Given the description of an element on the screen output the (x, y) to click on. 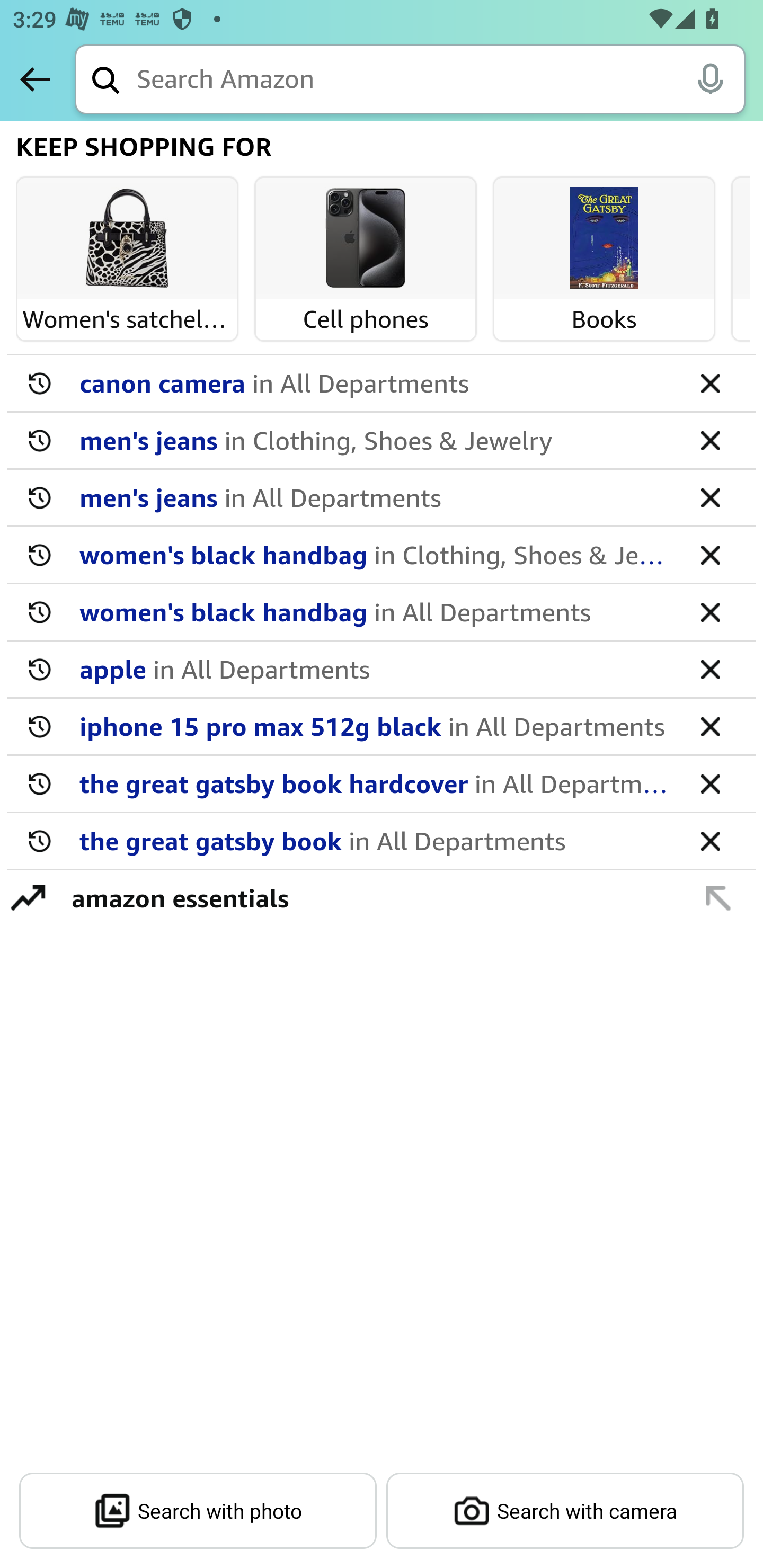
Search Amazon (440, 80)
Back (35, 78)
Alexa (710, 78)
Women's satchel handbags (126, 238)
Cell phones (365, 238)
Books (603, 238)
canon camera delete (381, 383)
canon camera (374, 382)
delete (710, 382)
men's jeans delete (381, 440)
men's jeans (374, 439)
delete (710, 439)
men's jeans delete (381, 497)
men's jeans (374, 496)
delete (710, 496)
women's black handbag delete (381, 554)
women's black handbag (374, 554)
delete (710, 554)
women's black handbag delete (381, 612)
women's black handbag (374, 611)
delete (710, 611)
apple delete (381, 669)
apple (374, 668)
delete (710, 668)
iphone 15 pro max 512g black delete (381, 726)
iphone 15 pro max 512g black (374, 725)
delete (710, 725)
the great gatsby book hardcover delete (381, 783)
the great gatsby book hardcover (374, 783)
delete (710, 783)
the great gatsby book delete (381, 841)
the great gatsby book (374, 840)
delete (710, 840)
amazon essentials append suggestion (381, 897)
amazon essentials (370, 897)
append suggestion (718, 897)
Search with photo (197, 1510)
Search with camera (564, 1510)
